Given the description of an element on the screen output the (x, y) to click on. 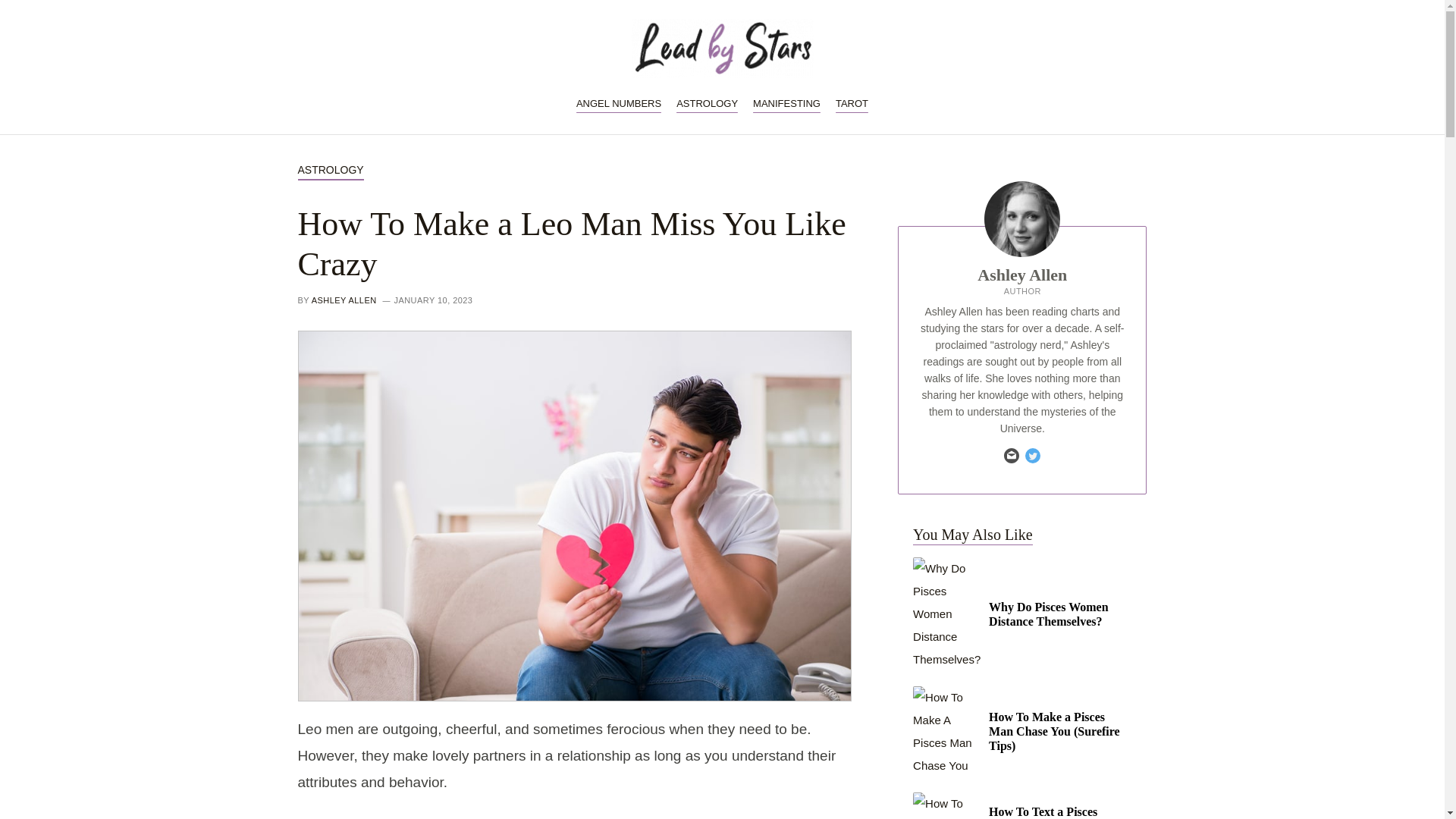
TAROT (851, 103)
ANGEL NUMBERS (618, 103)
ASHLEY ALLEN (344, 299)
Why Do Pisces Women Distance Themselves? (1021, 613)
ASTROLOGY (707, 103)
MANIFESTING (786, 103)
Ashley Allen (1021, 274)
ASTROLOGY (329, 170)
